Given the description of an element on the screen output the (x, y) to click on. 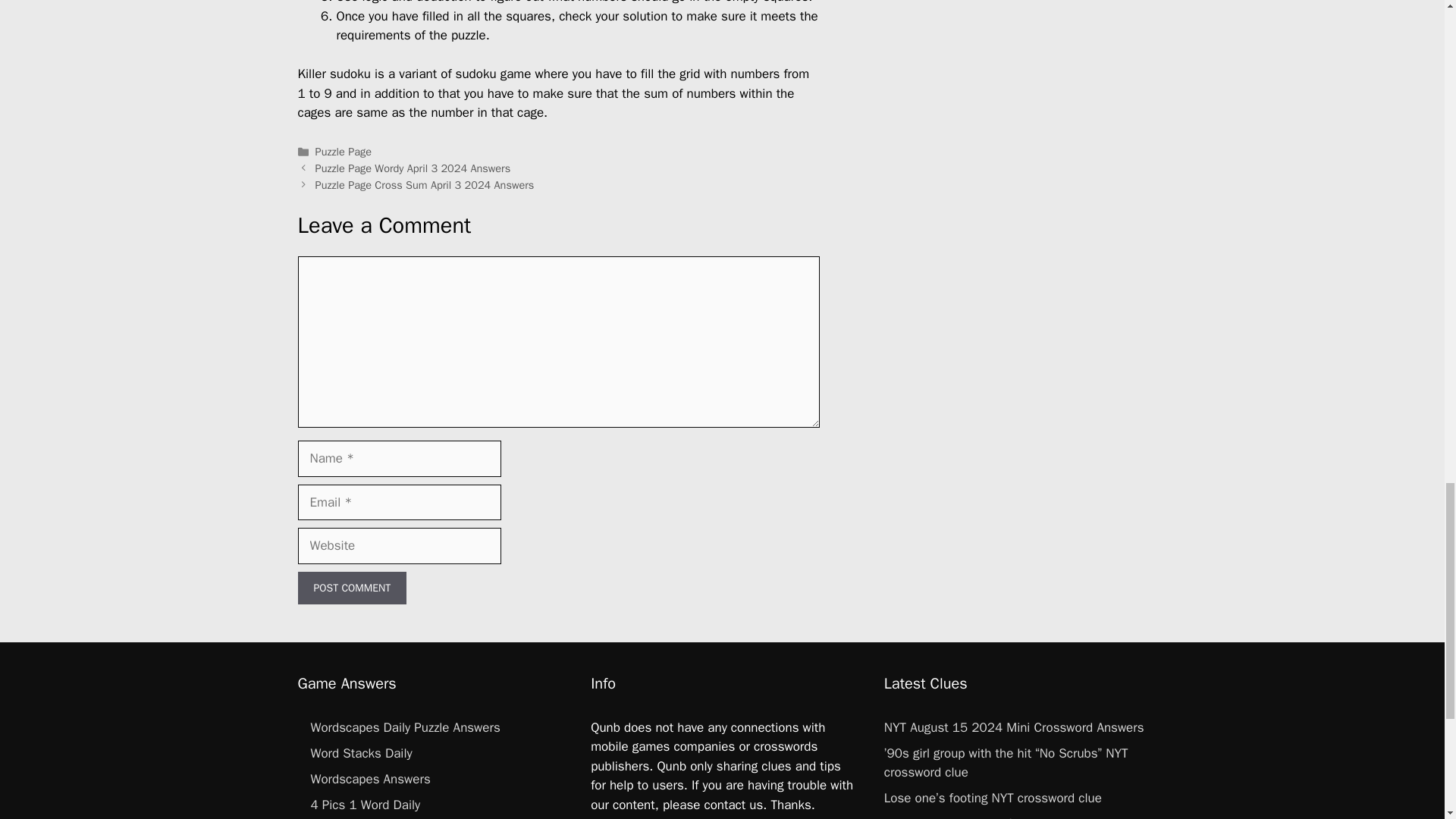
Puzzle Page Cross Sum April 3 2024 Answers (424, 184)
Puzzle Page (343, 151)
Puzzle Page Wordy April 3 2024 Answers (413, 168)
Post Comment (351, 587)
Post Comment (351, 587)
